Given the description of an element on the screen output the (x, y) to click on. 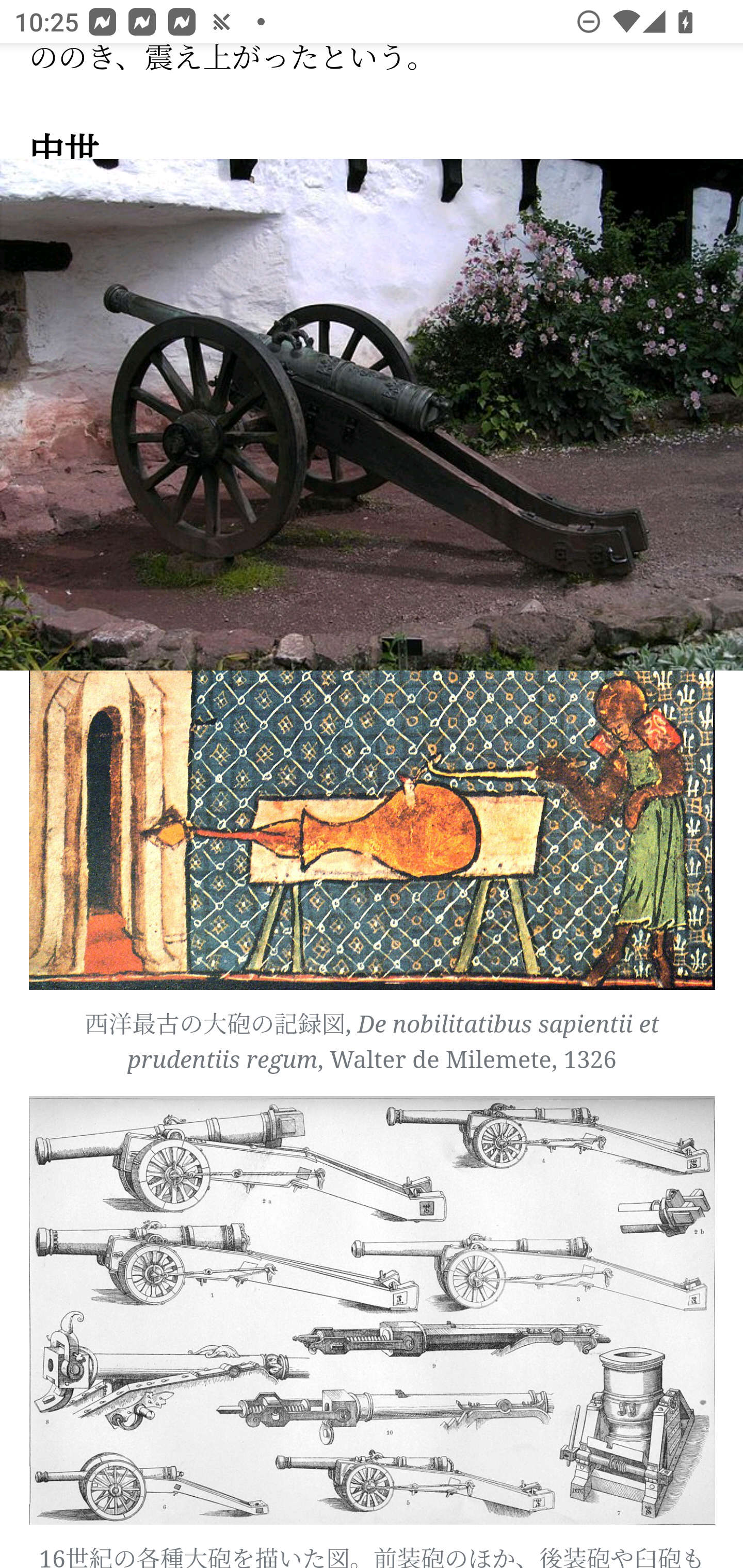
Image: 大砲 (371, 414)
1280px-16th_Century_Artillerie (372, 1311)
